Given the description of an element on the screen output the (x, y) to click on. 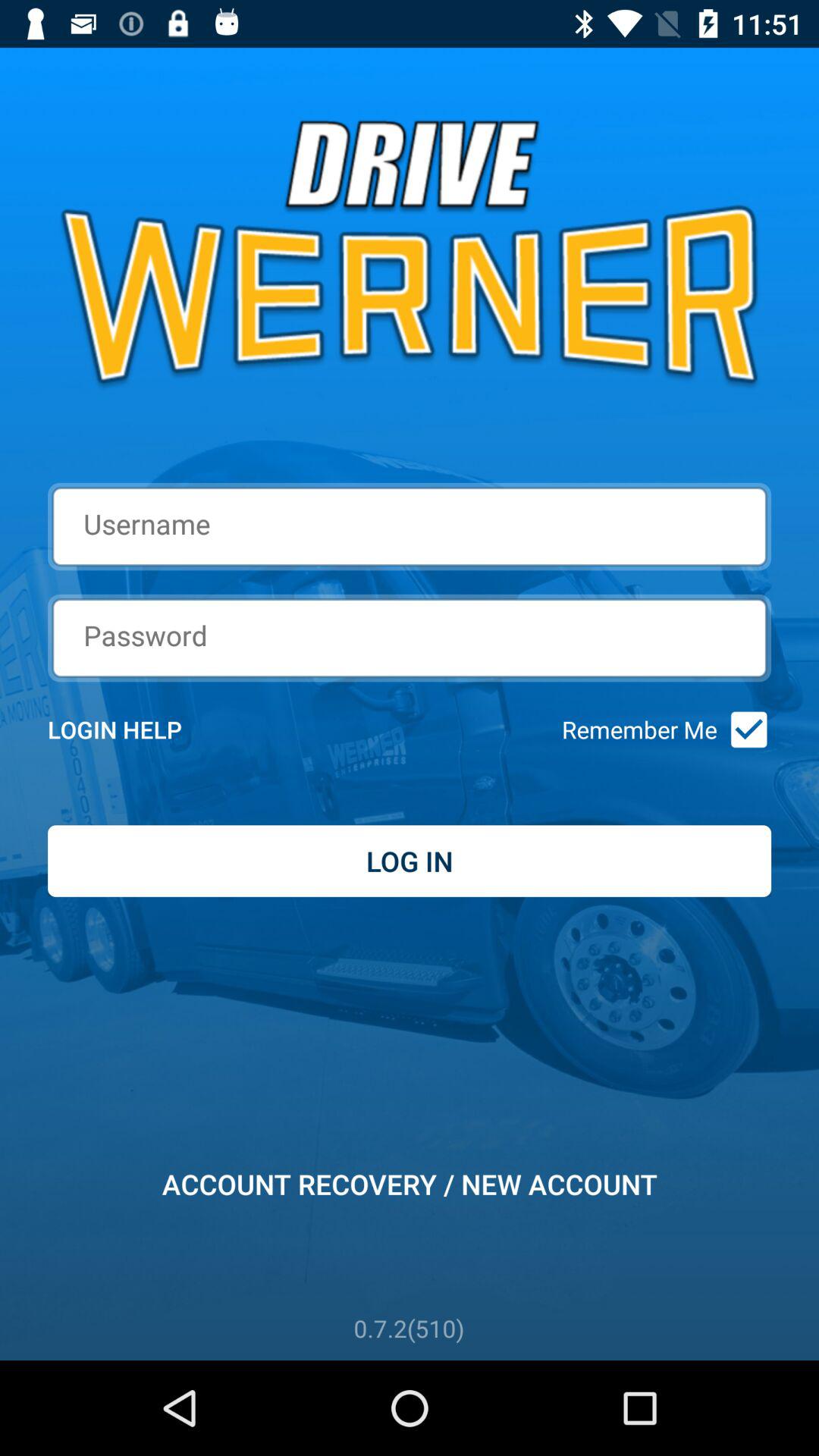
launch the icon next to the remember me item (744, 729)
